Given the description of an element on the screen output the (x, y) to click on. 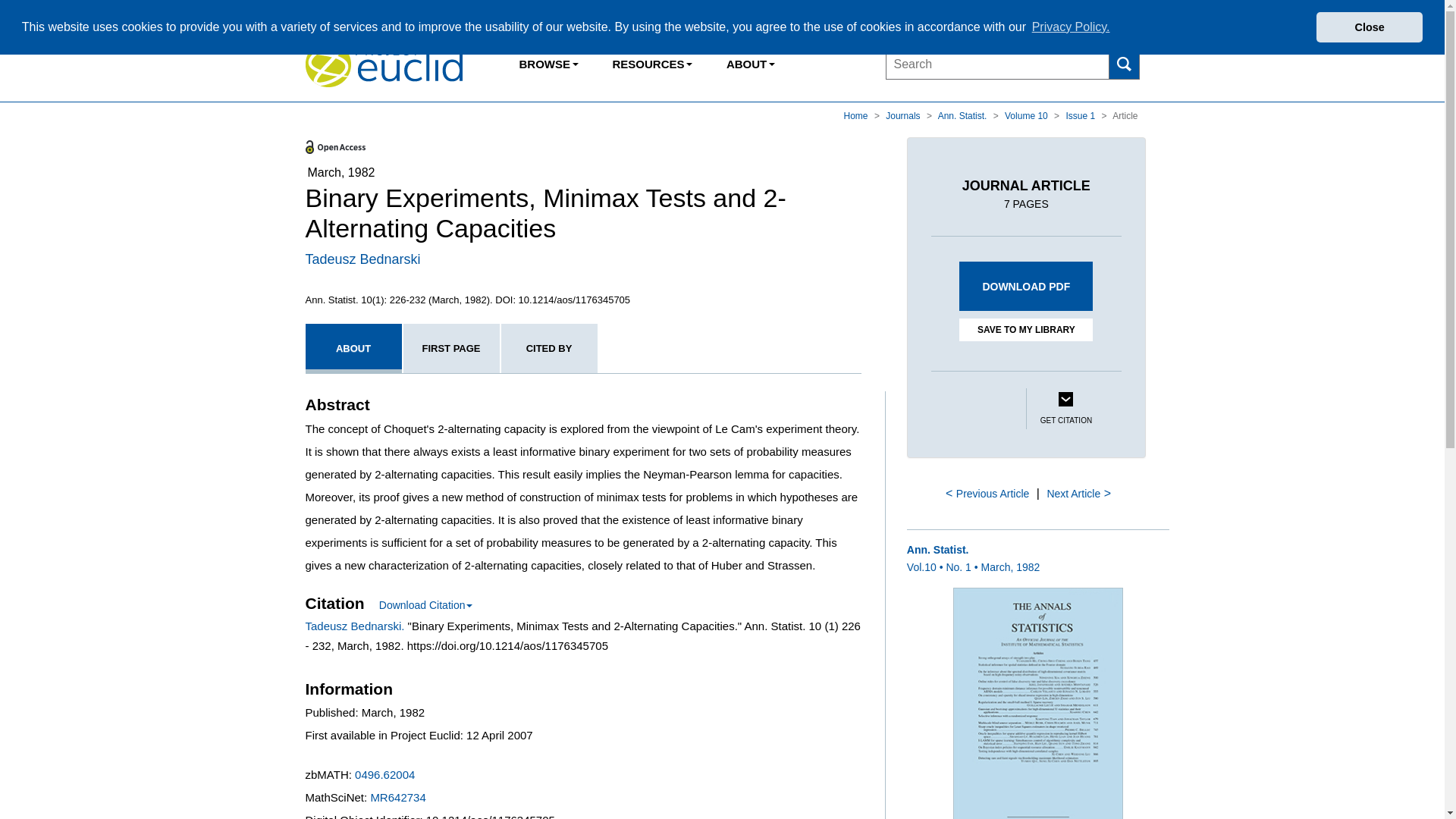
Journals (904, 115)
Close (1369, 27)
BROWSE (549, 64)
Browse (549, 64)
CITED BY (548, 348)
Subscriptions and Access (651, 64)
Home (857, 115)
Volume 10 (1026, 115)
Sign In (1075, 13)
ABOUT (750, 64)
Issue 1 (1081, 115)
RESOURCES (651, 64)
Journals (904, 115)
ABOUT (352, 348)
Home (857, 115)
